Given the description of an element on the screen output the (x, y) to click on. 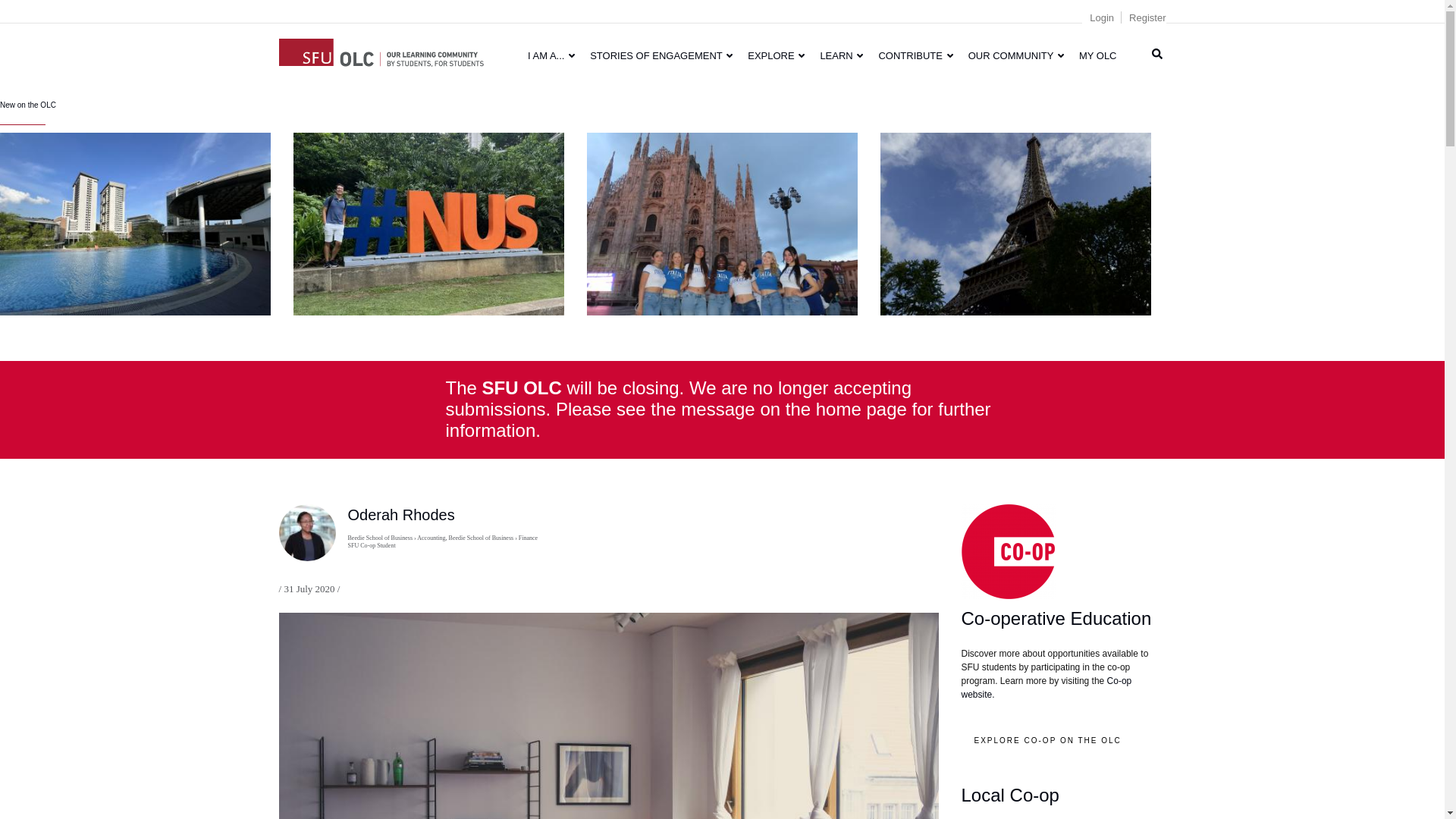
Login (1101, 17)
STORIES OF ENGAGEMENT (660, 55)
Pool at Stephen Riady Center (135, 223)
I AM A... (550, 55)
LEARN (841, 55)
OUR COMMUNITY (1015, 55)
EXPLORE (775, 55)
NUS sign in Utown (429, 223)
Register (1147, 17)
